Given the description of an element on the screen output the (x, y) to click on. 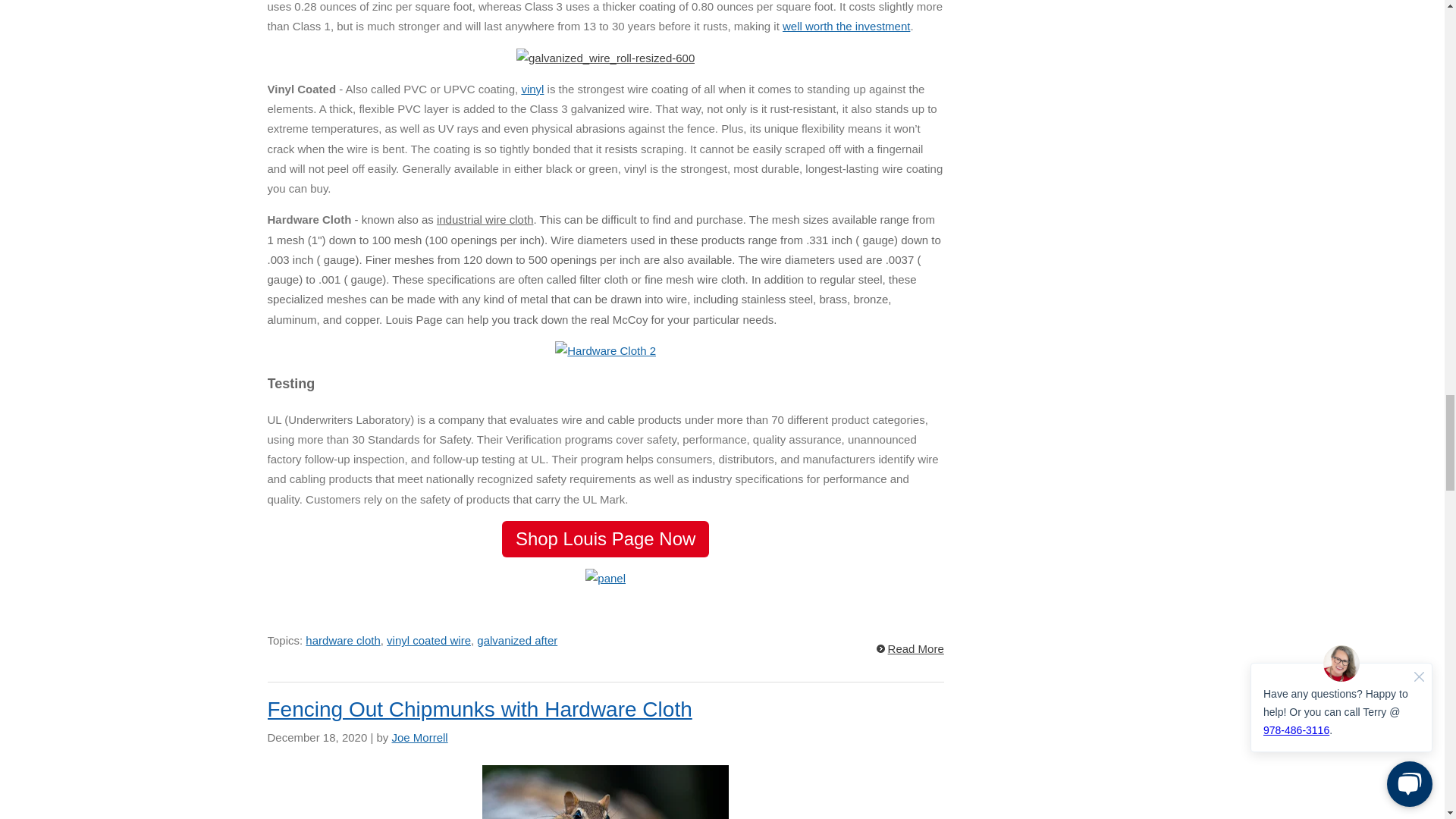
Shop Louis Page Now (606, 538)
